Given the description of an element on the screen output the (x, y) to click on. 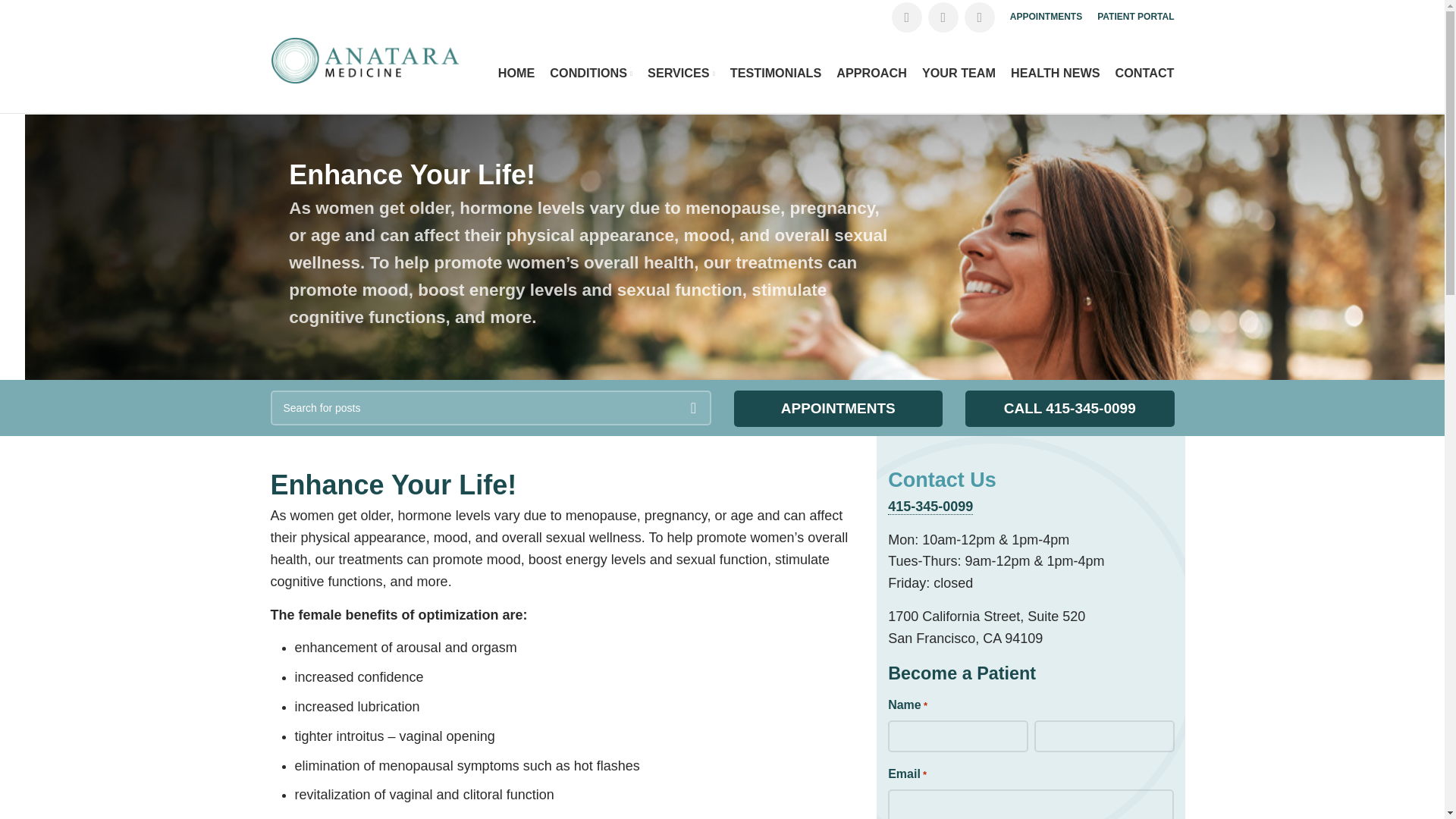
PATIENT PORTAL (1135, 16)
SERVICES (680, 73)
APPOINTMENTS (1045, 16)
Appointments (838, 408)
HOME (516, 73)
Search for posts (489, 407)
CONDITIONS (590, 73)
